Given the description of an element on the screen output the (x, y) to click on. 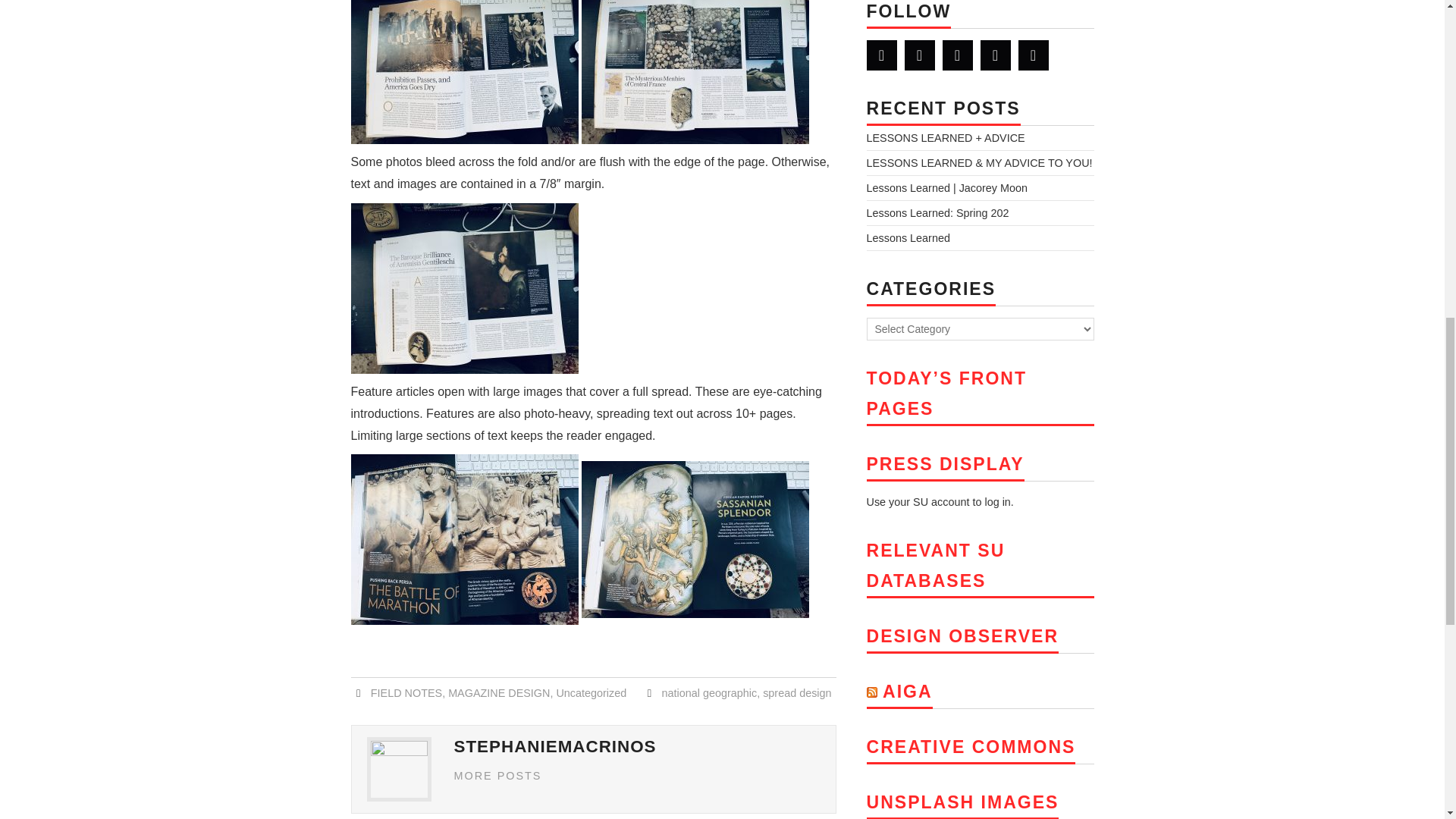
FIELD NOTES (406, 693)
Twitter (881, 55)
Pinterest (994, 55)
Instagram (1032, 55)
spread design (796, 693)
Uncategorized (591, 693)
MAGAZINE DESIGN (499, 693)
LinkedIn (919, 55)
national geographic (709, 693)
MORE POSTS (496, 775)
